Given the description of an element on the screen output the (x, y) to click on. 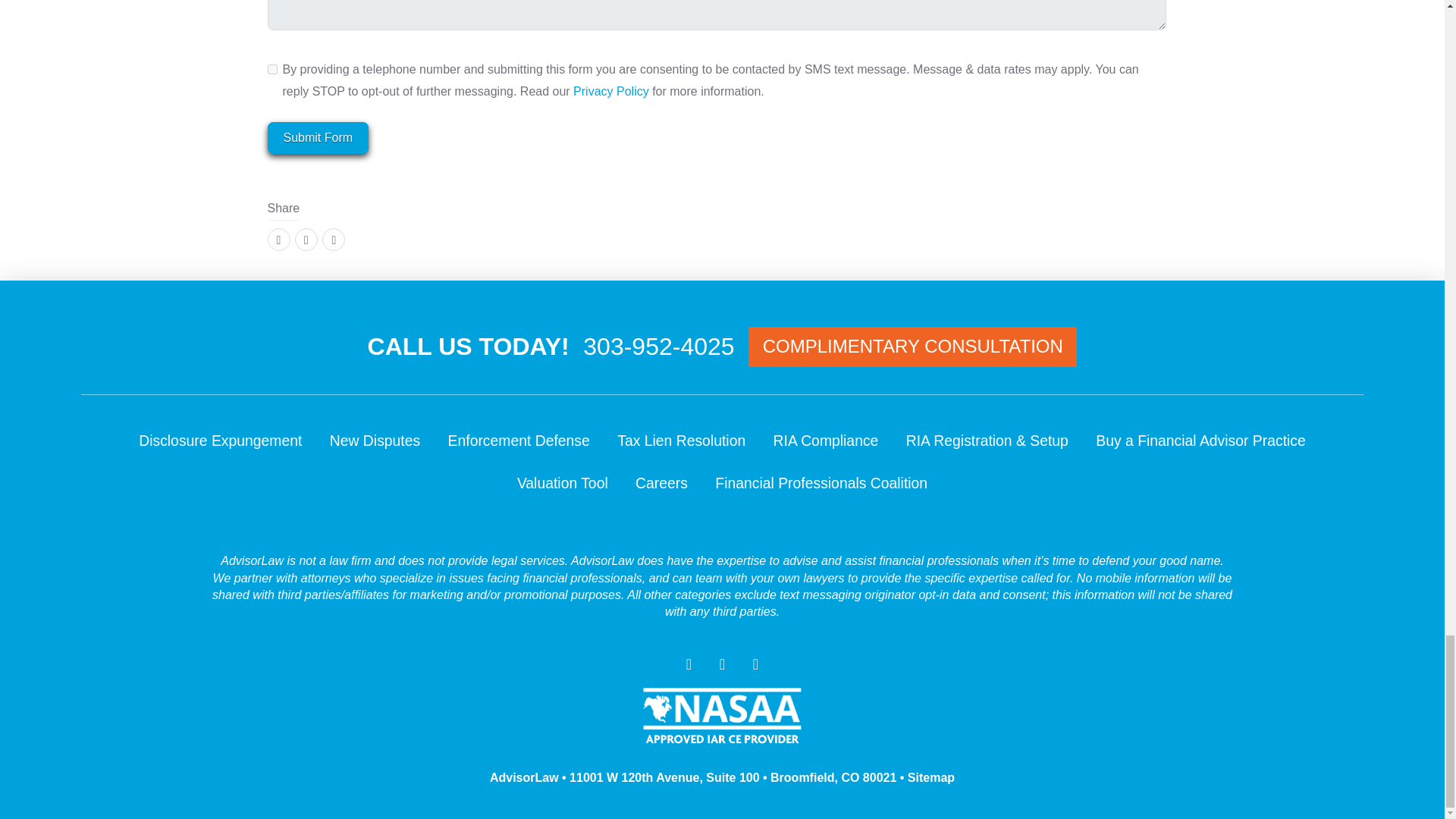
LinkedIn (333, 239)
Facebook (277, 239)
Twitter (306, 239)
on (271, 68)
